Given the description of an element on the screen output the (x, y) to click on. 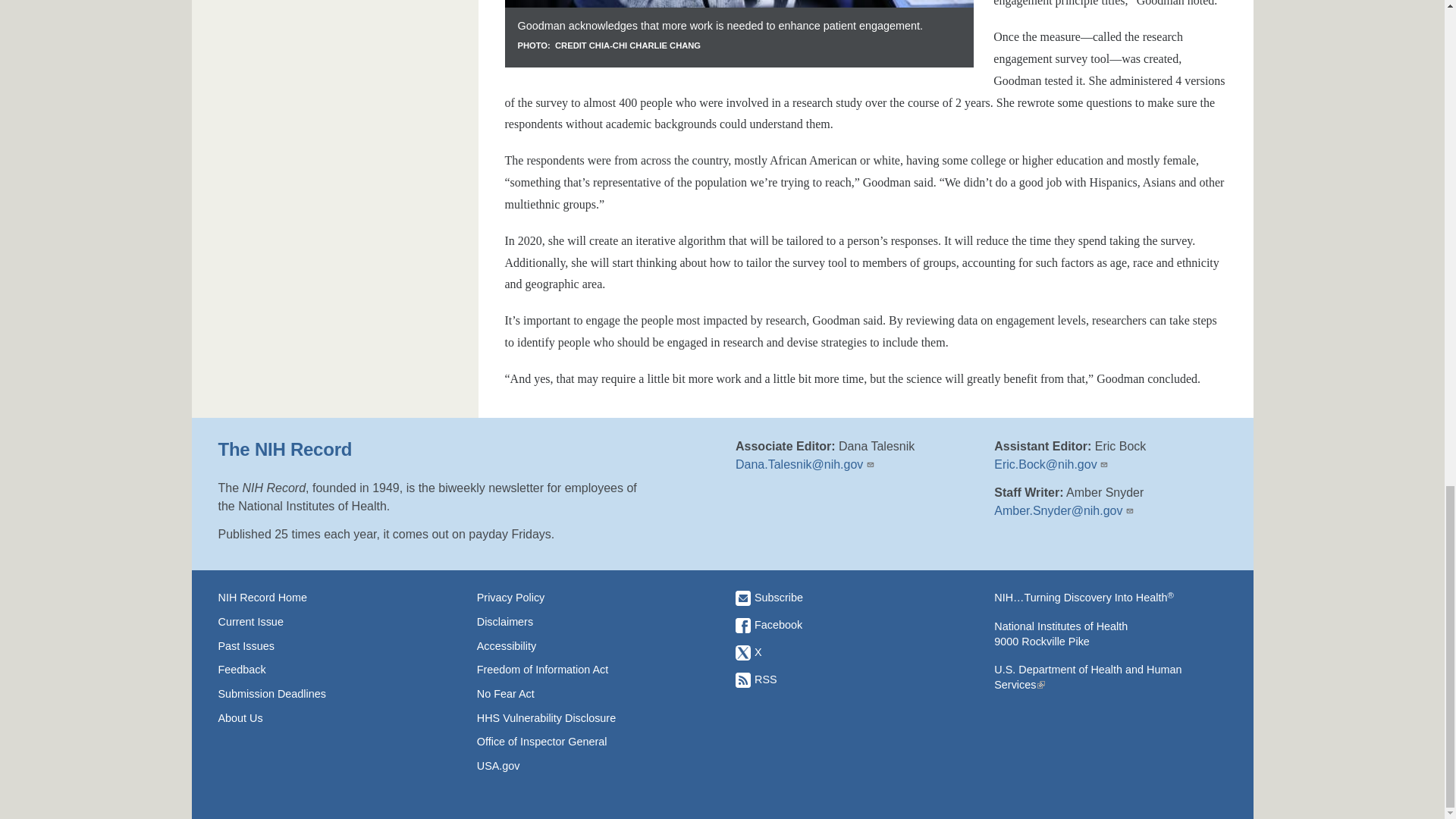
Dr. Melody Goodman (739, 33)
NIH Record Home (333, 597)
Dr. Melody Goodman (739, 3)
Feedback (333, 669)
Current Issue (333, 621)
Past Issues (333, 645)
